Given the description of an element on the screen output the (x, y) to click on. 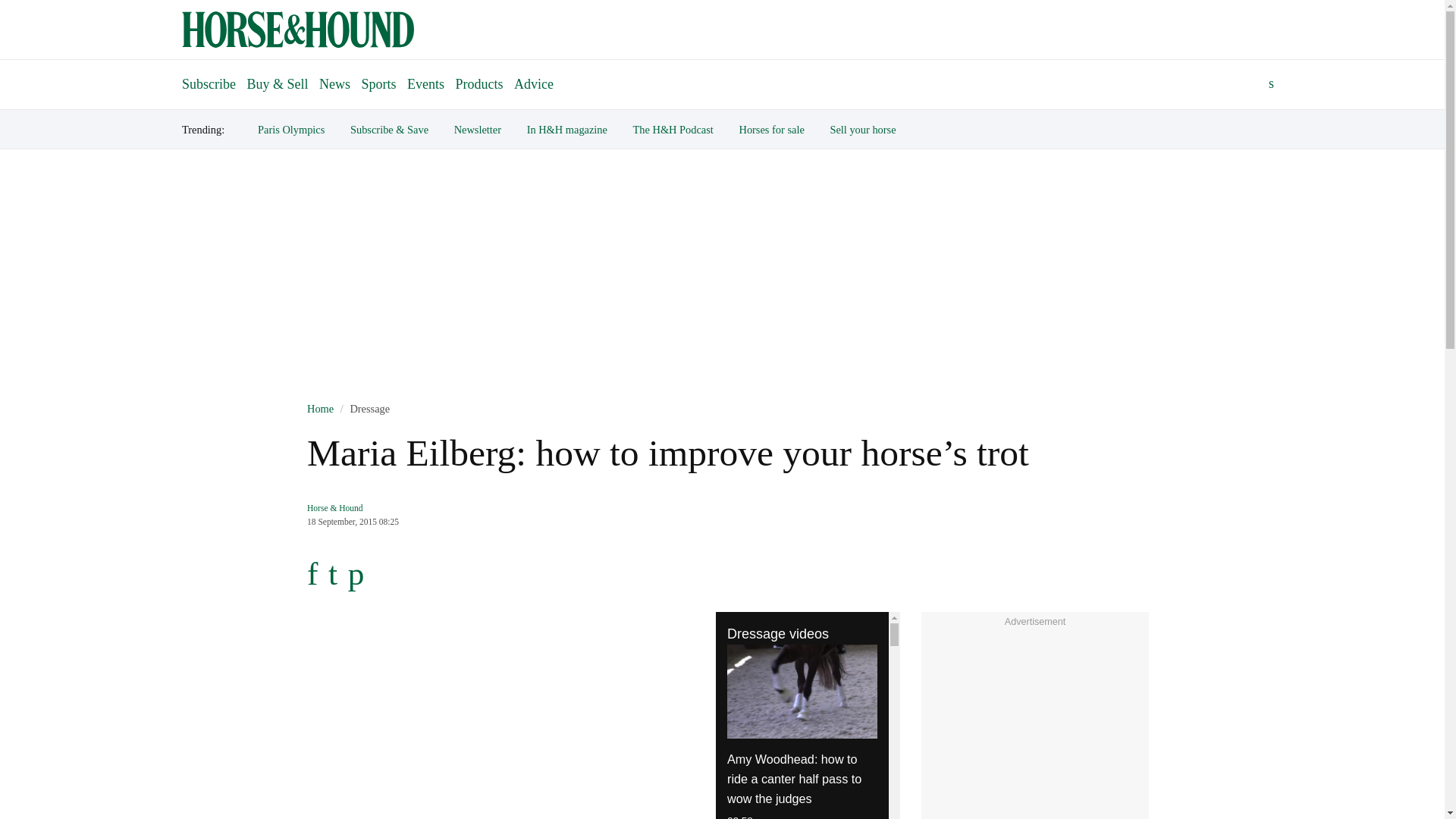
Subscribe (208, 77)
Events (425, 83)
Products (478, 83)
Advice (534, 83)
